Given the description of an element on the screen output the (x, y) to click on. 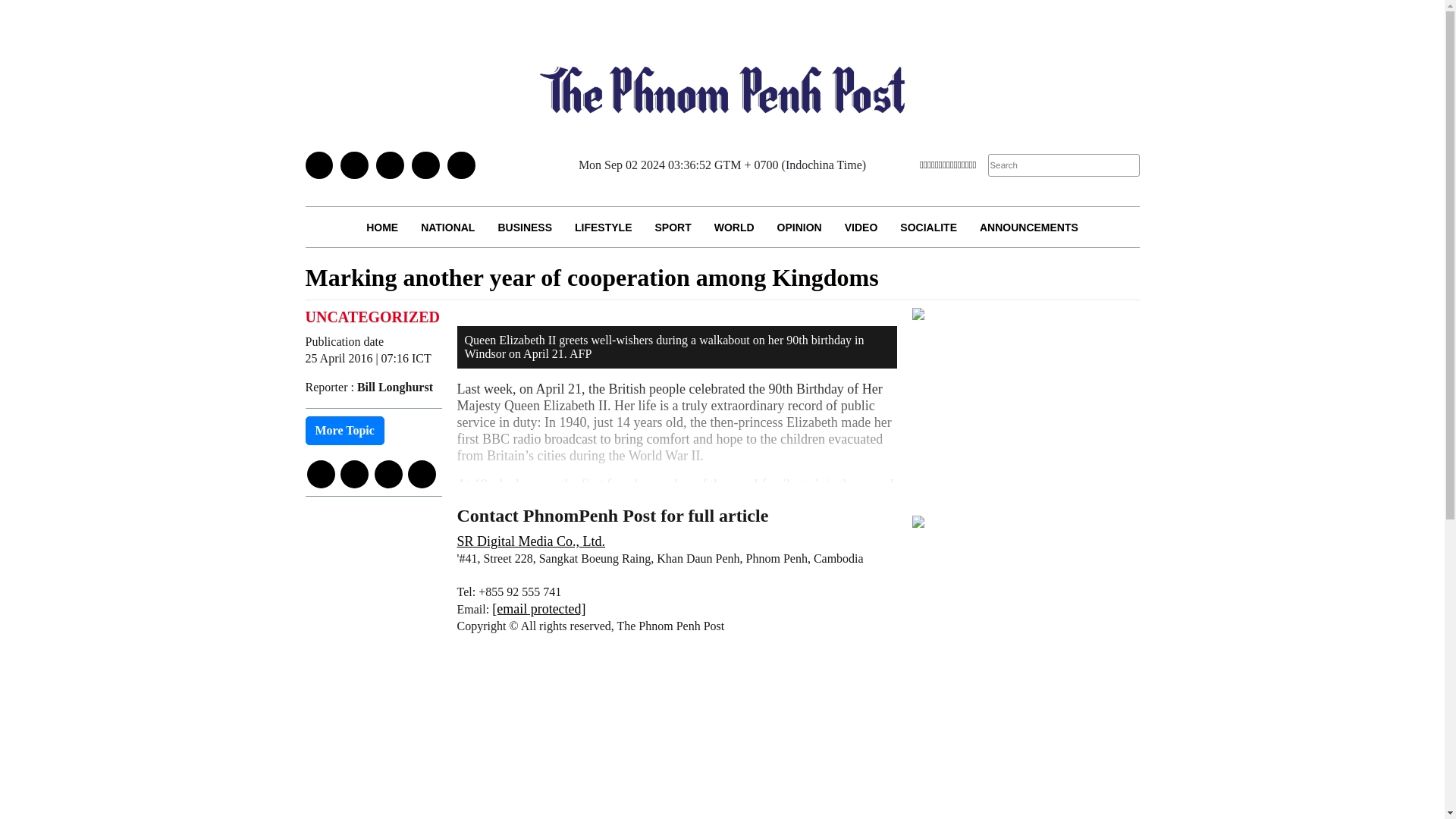
More Topic (344, 430)
NATIONAL (447, 227)
SPORT (672, 227)
ANNOUNCEMENTS (1028, 227)
VIDEO (860, 227)
BUSINESS (524, 227)
OPINION (798, 227)
WORLD (734, 227)
HOME (382, 227)
SR Digital Media Co., Ltd. (531, 540)
